Given the description of an element on the screen output the (x, y) to click on. 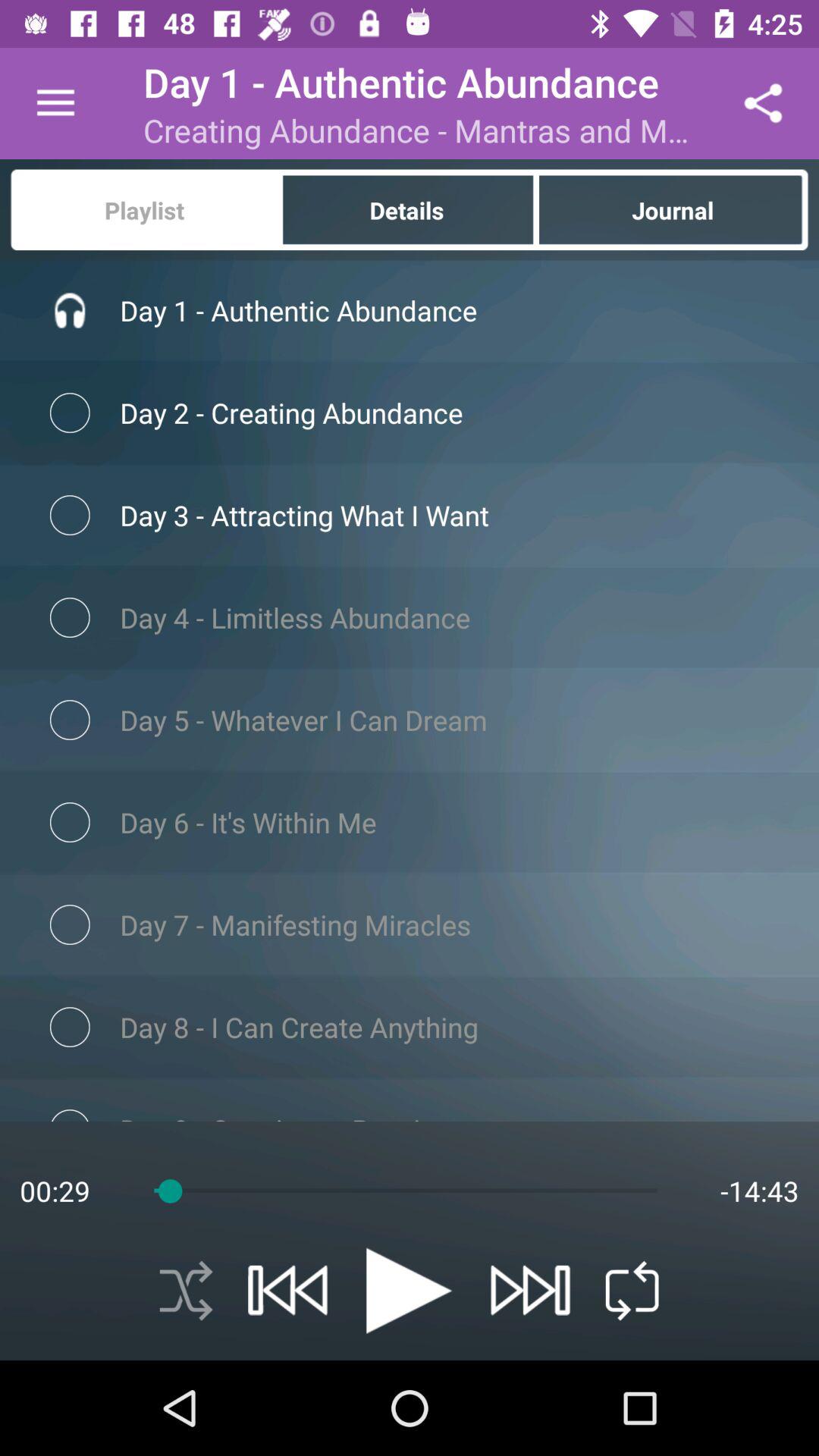
press the icon to the right of the details (673, 209)
